Given the description of an element on the screen output the (x, y) to click on. 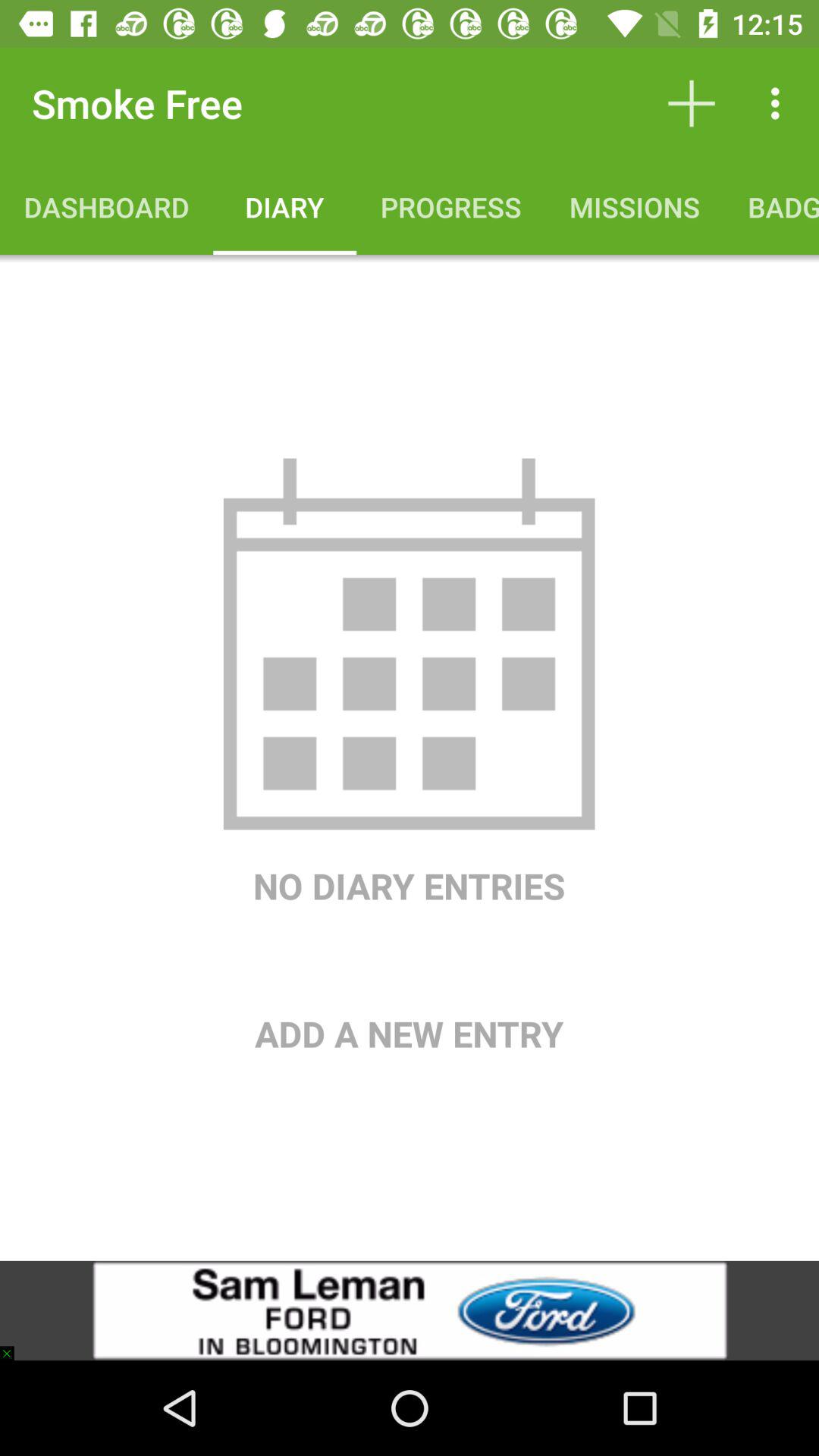
choose add a new item (408, 983)
